Given the description of an element on the screen output the (x, y) to click on. 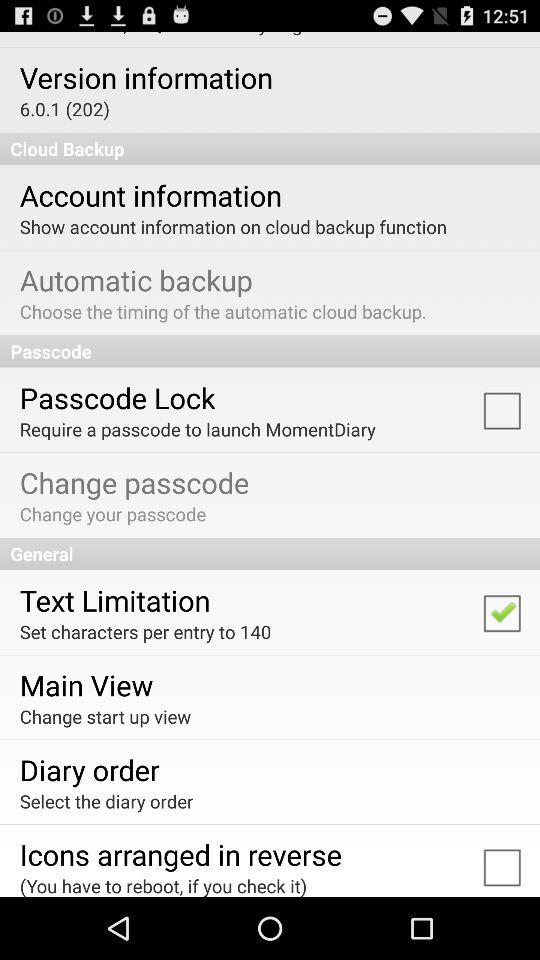
jump until the change start up app (105, 716)
